Given the description of an element on the screen output the (x, y) to click on. 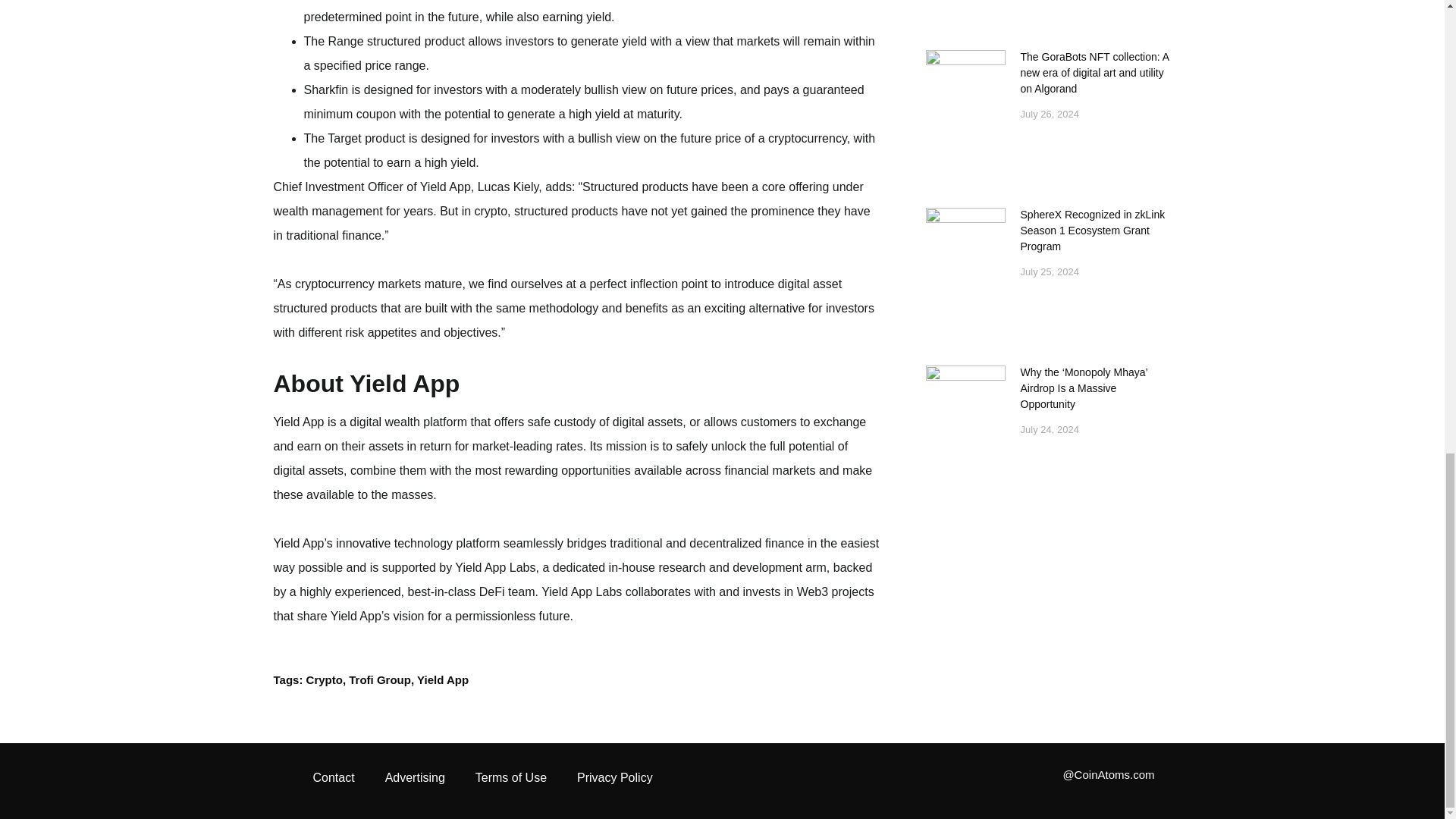
Crypto (323, 679)
Trofi Group (379, 679)
Yield App (442, 679)
